Given the description of an element on the screen output the (x, y) to click on. 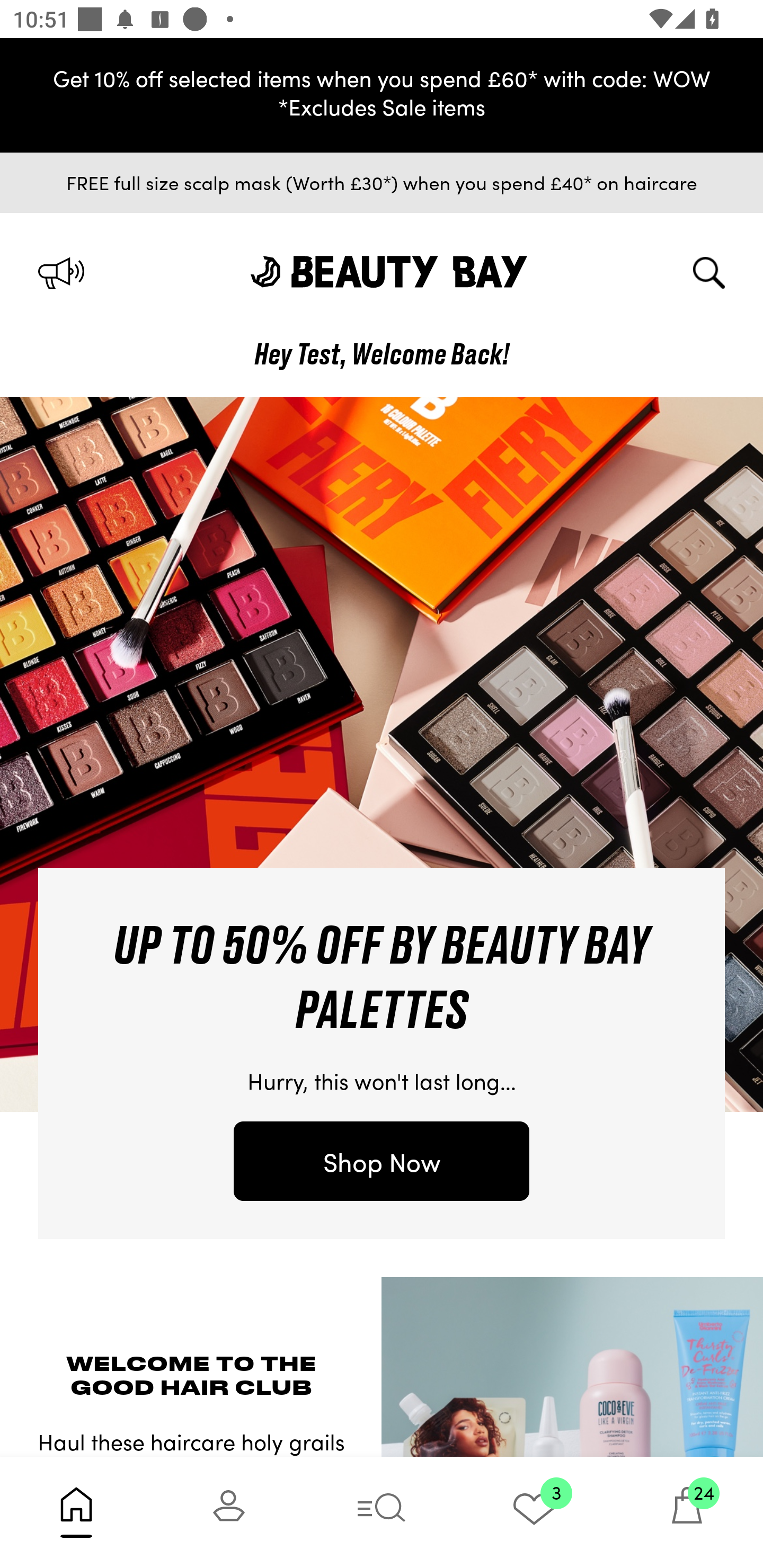
3 (533, 1512)
24 (686, 1512)
